Given the description of an element on the screen output the (x, y) to click on. 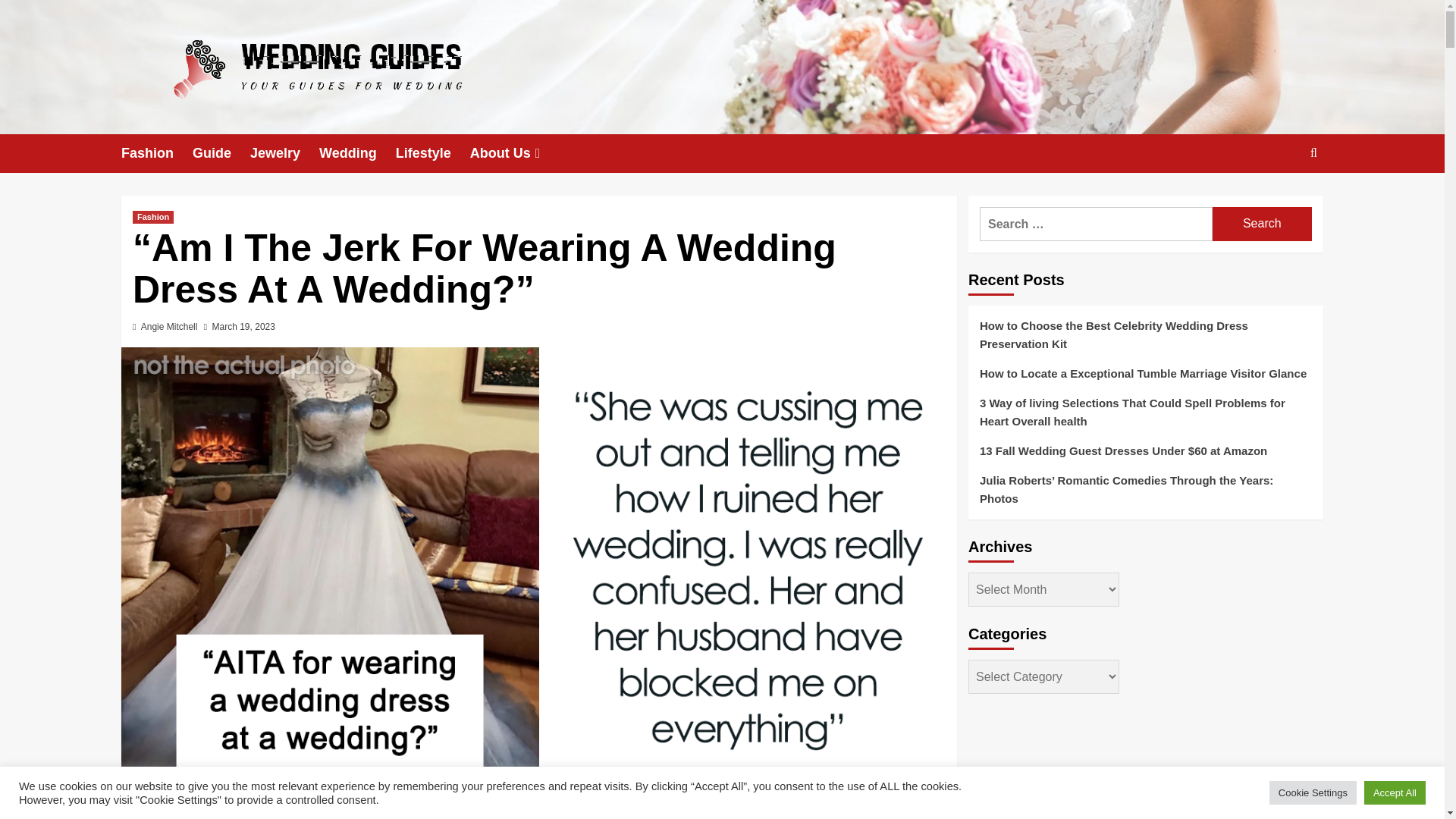
Fashion (152, 216)
Fashion (156, 153)
Wedding (357, 153)
Search (1261, 223)
About Us (516, 153)
Guide (221, 153)
Angie Mitchell (169, 326)
Jewelry (284, 153)
Lifestyle (433, 153)
March 19, 2023 (243, 326)
